Given the description of an element on the screen output the (x, y) to click on. 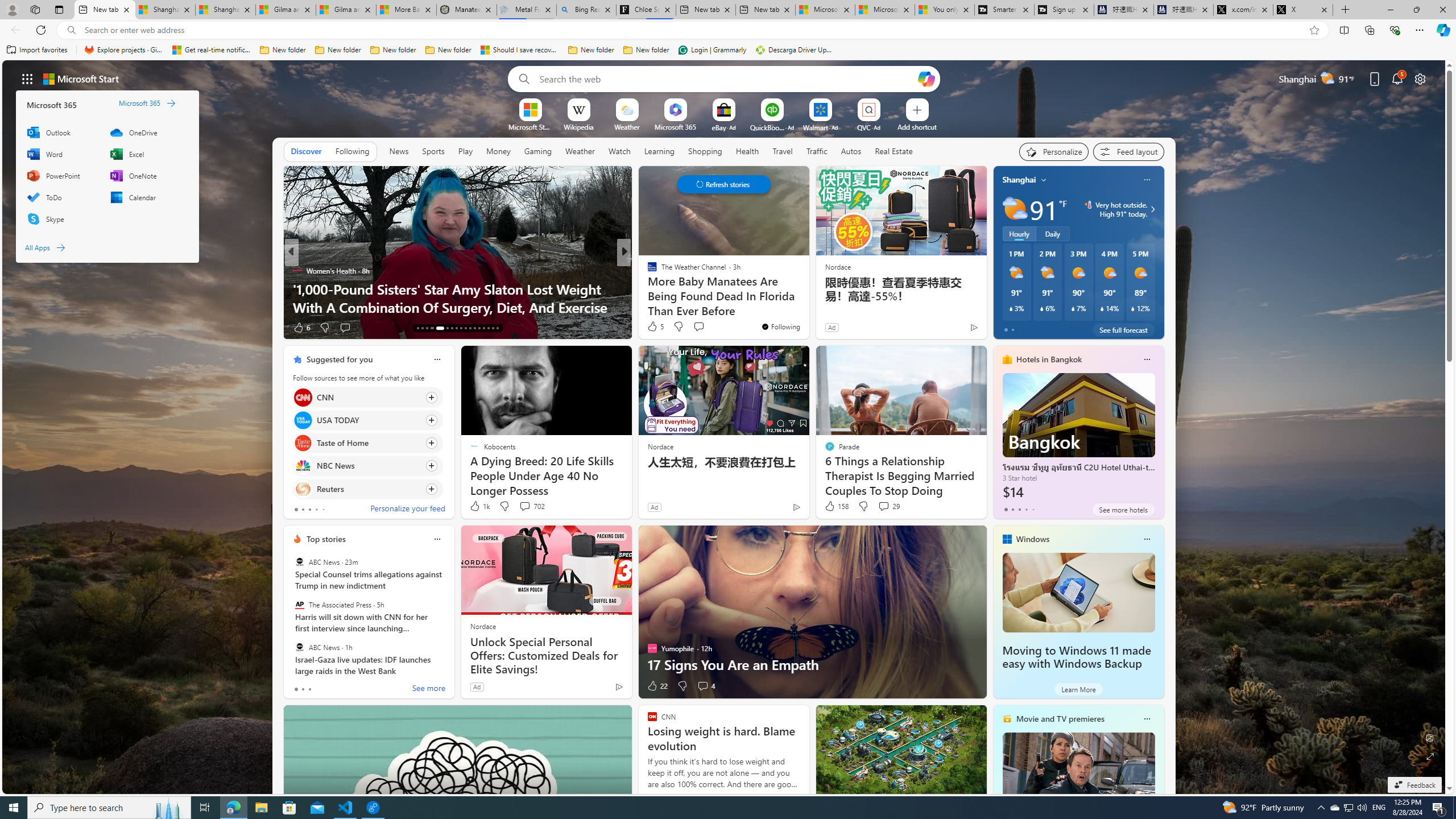
Movie and TV premieres (1060, 718)
Forge of Empires (668, 288)
Edit Background (1430, 737)
How to Survive (647, 288)
View comments 25 Comment (698, 327)
Class: weather-current-precipitation-glyph (1133, 308)
Excel (145, 153)
Smarter Living | T3 (1004, 9)
View comments 1 Comment (698, 327)
